Given the description of an element on the screen output the (x, y) to click on. 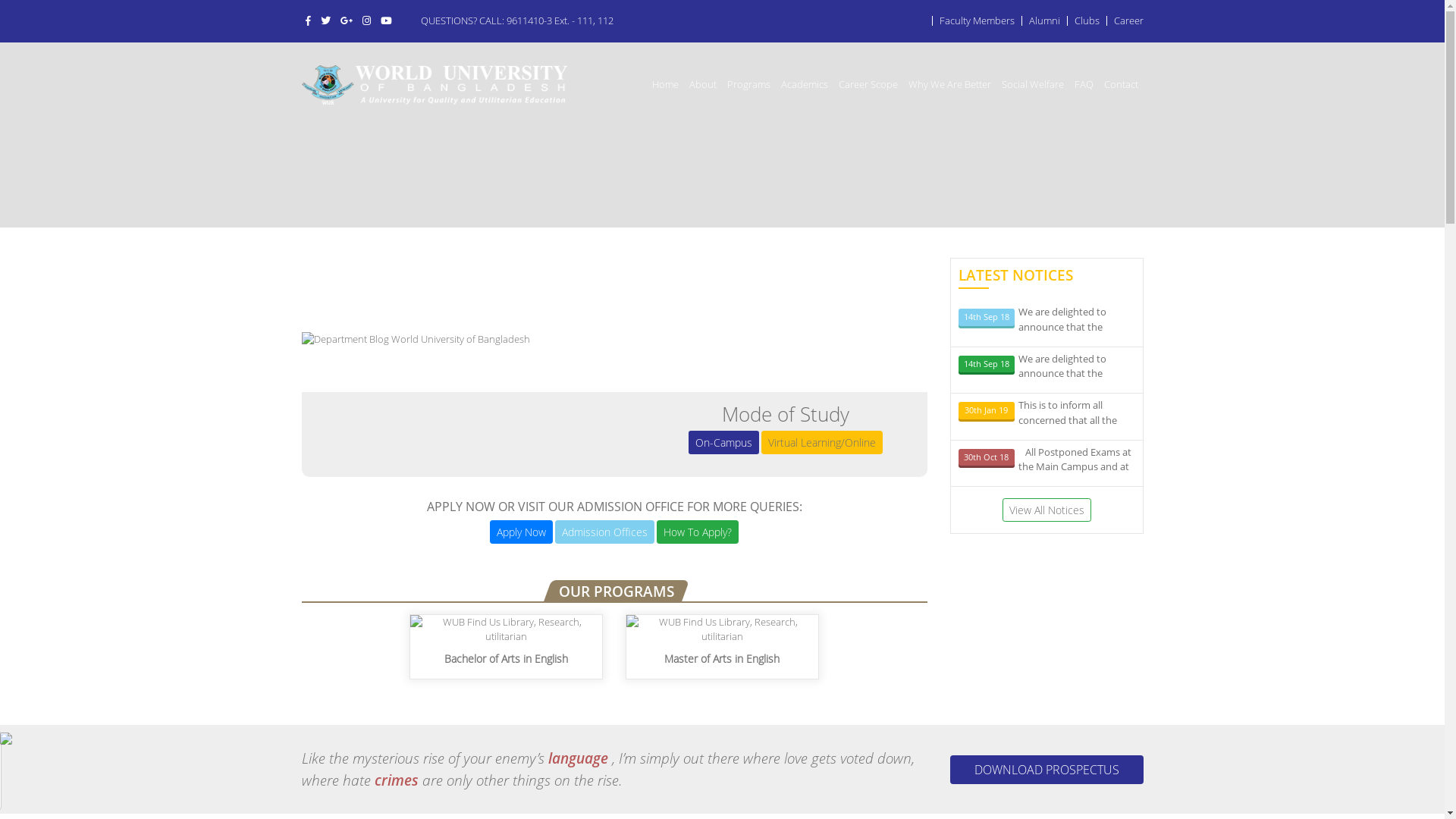
Programs Element type: text (748, 84)
Logo World University of Bangladesh Element type: hover (434, 84)
Faculty Members Element type: text (975, 20)
On-Campus Element type: text (723, 442)
Admission Offices Element type: text (604, 531)
Bachelor of Arts in English Element type: text (506, 645)
World University Bangladesh Facebook Page Element type: text (307, 20)
Apply Now Element type: text (520, 531)
Master of Arts in English Element type: text (722, 645)
Clubs Element type: text (1085, 20)
How To Apply? Element type: text (697, 531)
Social Welfare Element type: text (1032, 84)
World University Bangladesh Youtube Page Element type: text (385, 20)
Home Element type: text (664, 84)
Academics Element type: text (803, 84)
Virtual Learning/Online Element type: text (821, 442)
World University Bangladesh Instagram Page Element type: text (365, 20)
FAQ Element type: text (1083, 84)
View All Notices Element type: text (1046, 509)
DOWNLOAD PROSPECTUS Element type: text (1045, 769)
World University Bangladesh Google Plus Page Element type: text (346, 20)
Contact Element type: text (1120, 84)
Career Element type: text (1127, 20)
Why We Are Better Element type: text (948, 84)
About Element type: text (702, 84)
World University Bangladesh Twitter Page Element type: text (325, 20)
Alumni Element type: text (1043, 20)
Career Scope Element type: text (867, 84)
